Given the description of an element on the screen output the (x, y) to click on. 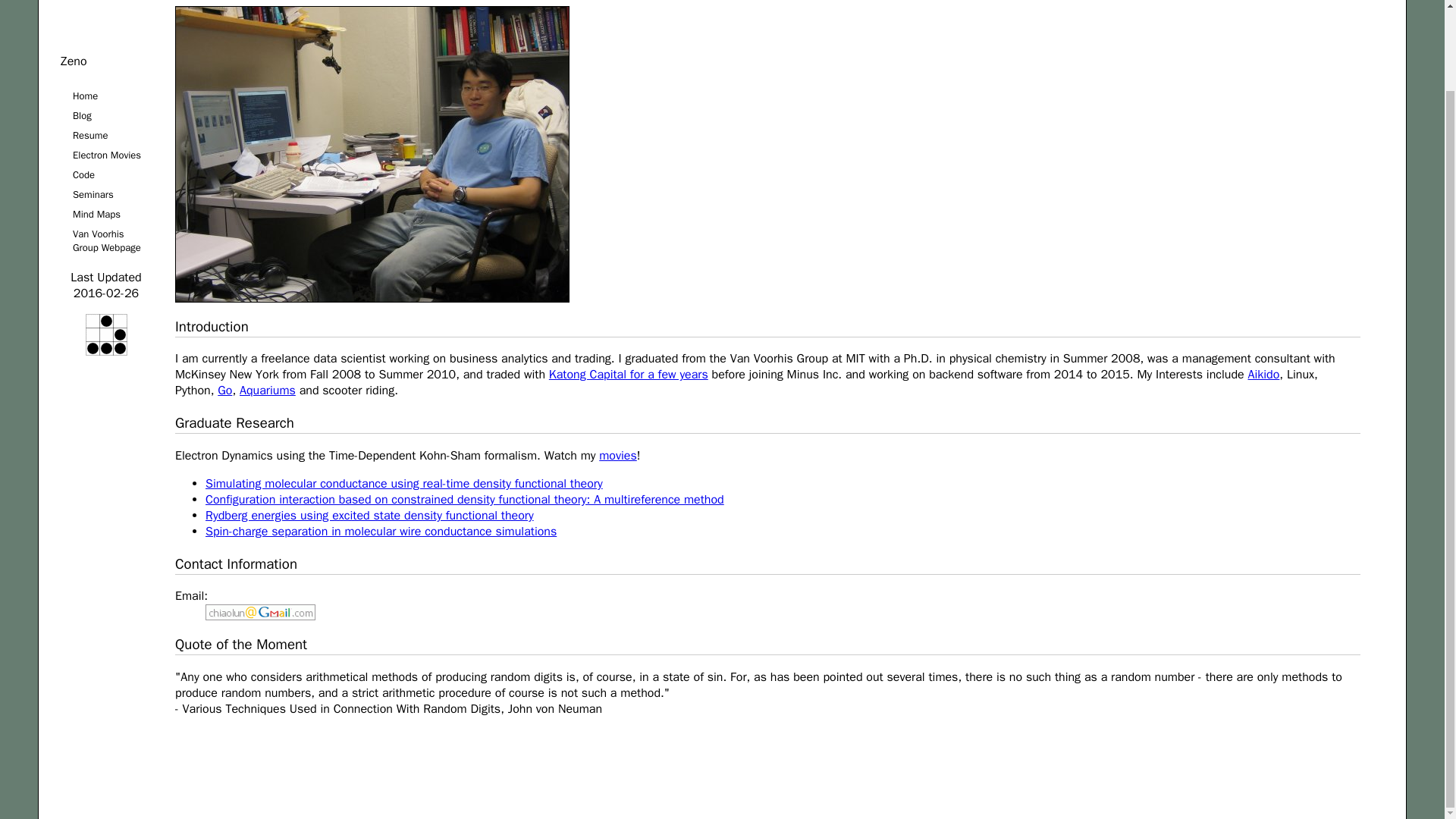
Blog (106, 116)
Blog (106, 116)
Seminars (106, 194)
Van Voorhis Group Webpage (106, 240)
Aikido (1263, 374)
Electron Movies (106, 155)
Resume (106, 135)
movies (617, 455)
Seminars (106, 214)
Katong Capital for a few years (627, 374)
Mind Maps (106, 214)
Code (106, 175)
Home (106, 96)
